Given the description of an element on the screen output the (x, y) to click on. 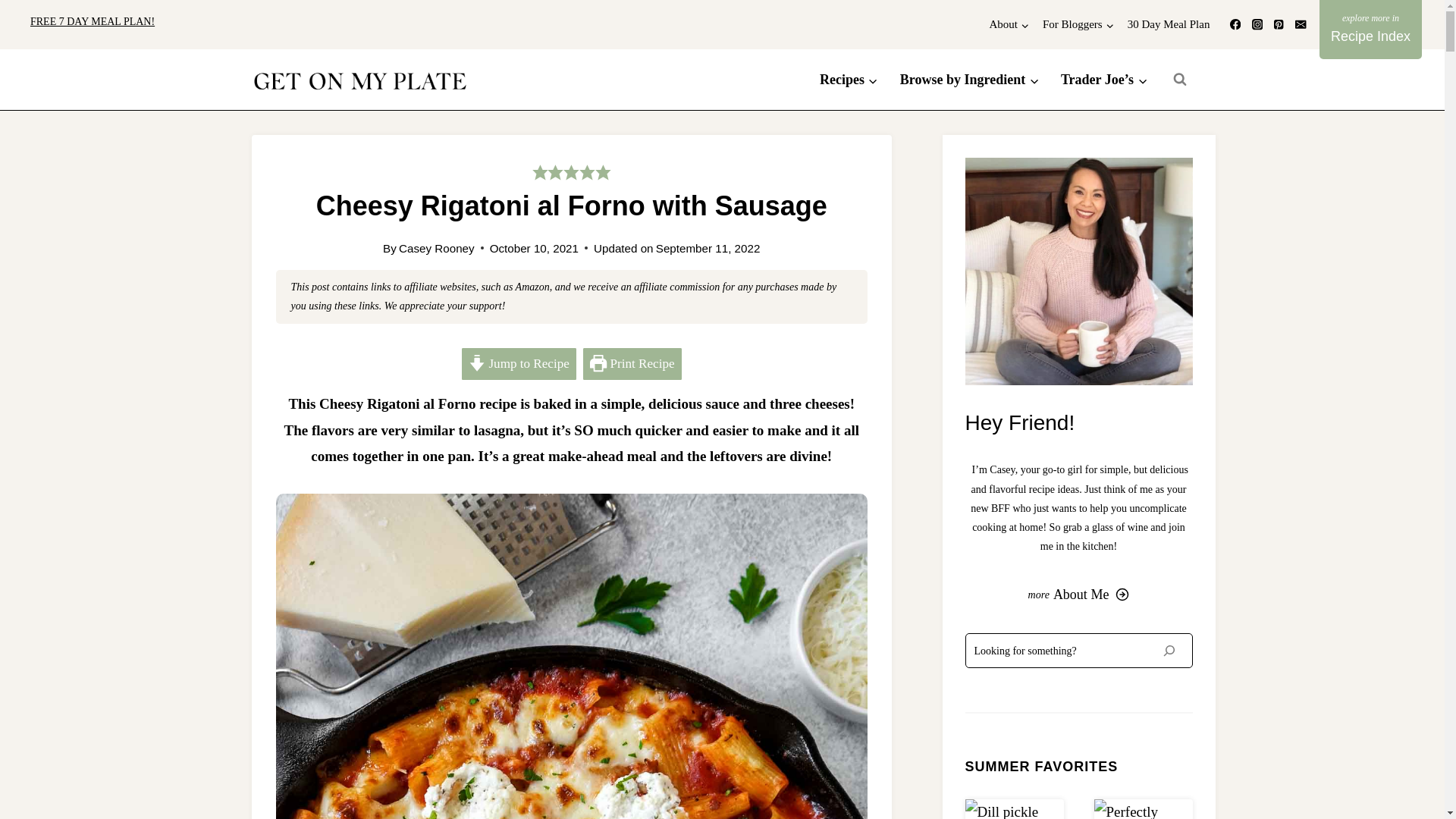
For Bloggers (1078, 24)
FREE 7 DAY MEAL PLAN! (92, 23)
About (1008, 24)
Recipes (849, 78)
Browse by Ingredient (968, 78)
30 Day Meal Plan (1169, 24)
Recipe Index (1370, 29)
